Given the description of an element on the screen output the (x, y) to click on. 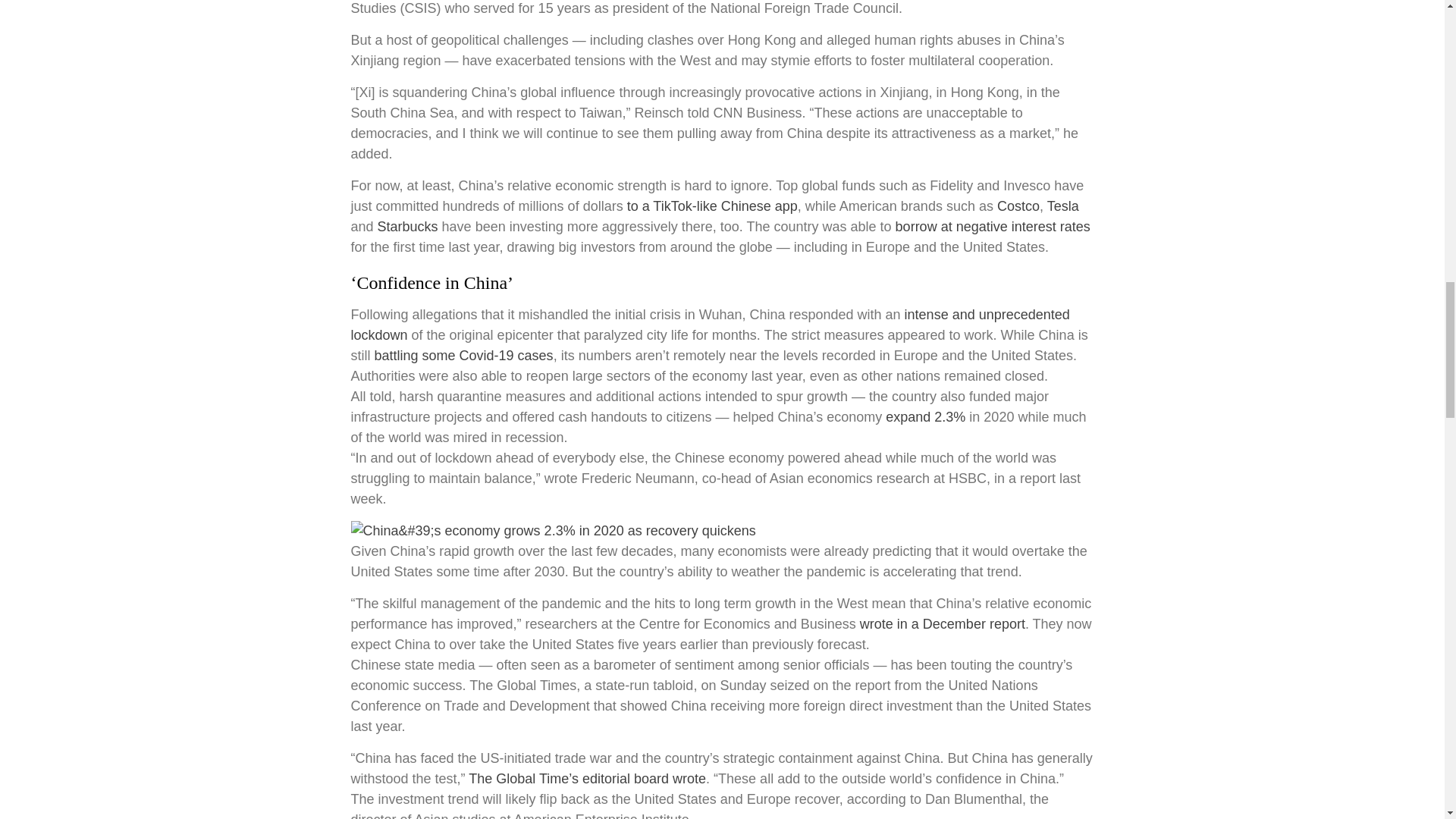
borrow at negative interest rates (992, 226)
to a TikTok-like Chinese app (712, 206)
Tesla (1062, 206)
Starbucks (407, 226)
Costco (1018, 206)
